Given the description of an element on the screen output the (x, y) to click on. 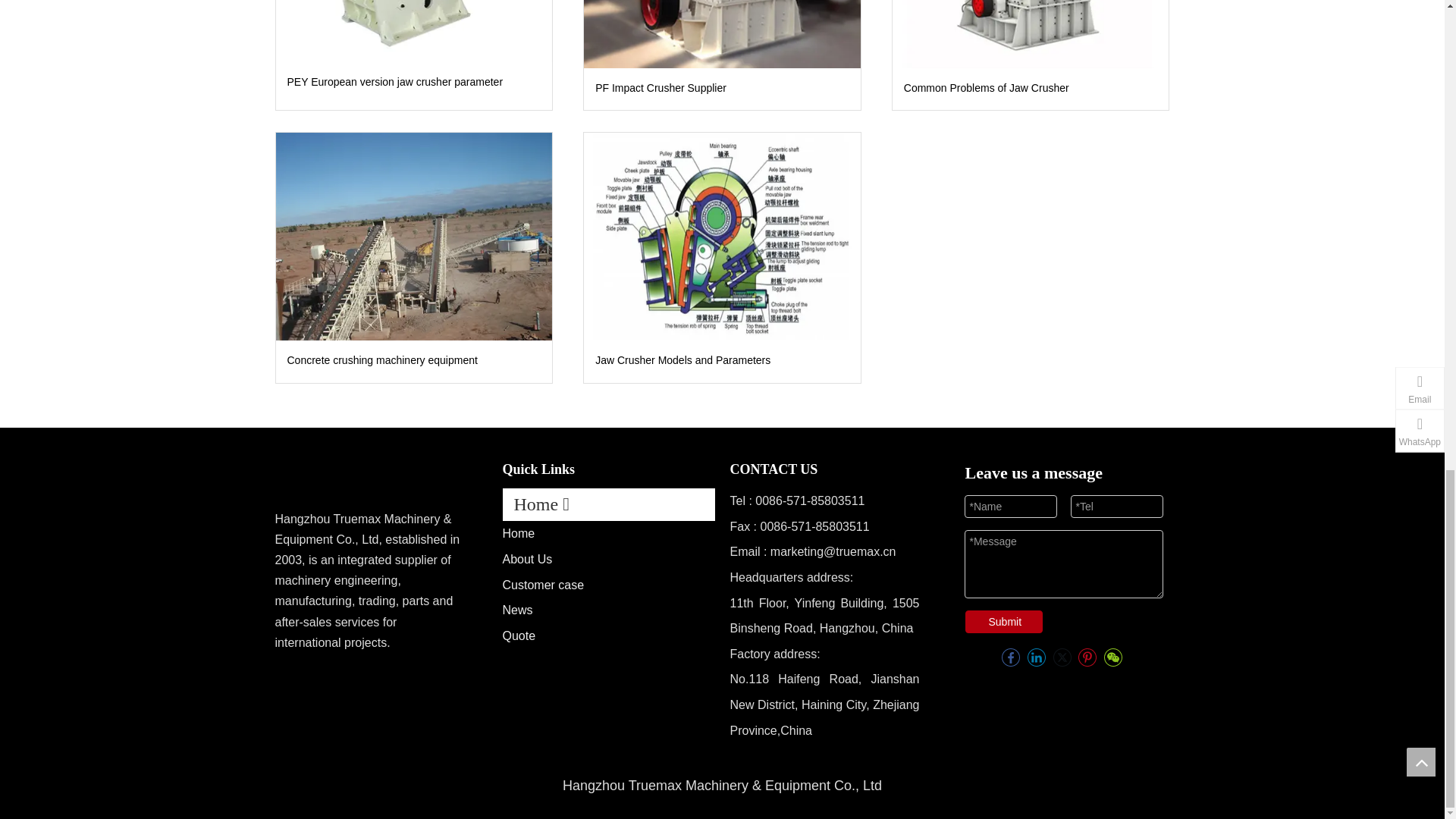
Jaw Crusher Models and Parameters (721, 361)
Linkedin (1035, 645)
PF Impact Crusher Supplier (721, 33)
Concrete crushing machinery equipment (414, 235)
PF Impact Crusher Supplier (721, 88)
News (517, 609)
Common Problems of Jaw Crusher (1030, 33)
Home (518, 533)
Jaw Crusher Models and Parameters (721, 235)
Customer case (542, 584)
About Us (526, 558)
 Quote  (518, 635)
PEY European version jaw crusher parameter (414, 31)
PEY European version jaw crusher parameter (413, 82)
Concrete crushing machinery equipment (413, 361)
